Given the description of an element on the screen output the (x, y) to click on. 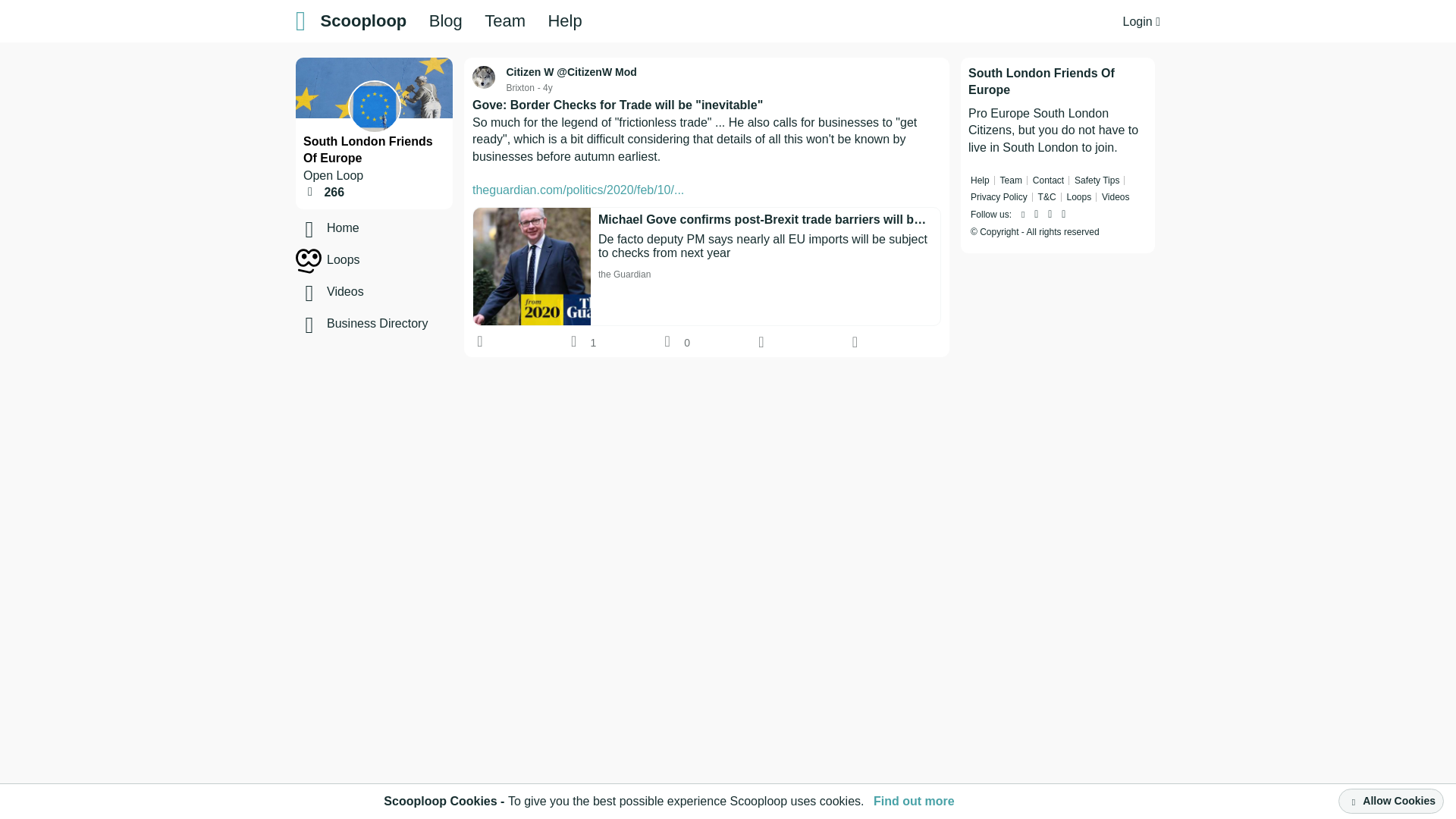
Loops (400, 259)
Home (400, 228)
Login (1141, 21)
Contact (1048, 180)
Loops (1077, 196)
Privacy Policy (999, 196)
Videos (400, 291)
Scooploop (363, 21)
Safety Tips (1096, 180)
Business Directory (400, 323)
Team (1011, 180)
Blog (446, 21)
South London Friends Of Europe (367, 149)
Help (980, 180)
Videos (1115, 196)
